Given the description of an element on the screen output the (x, y) to click on. 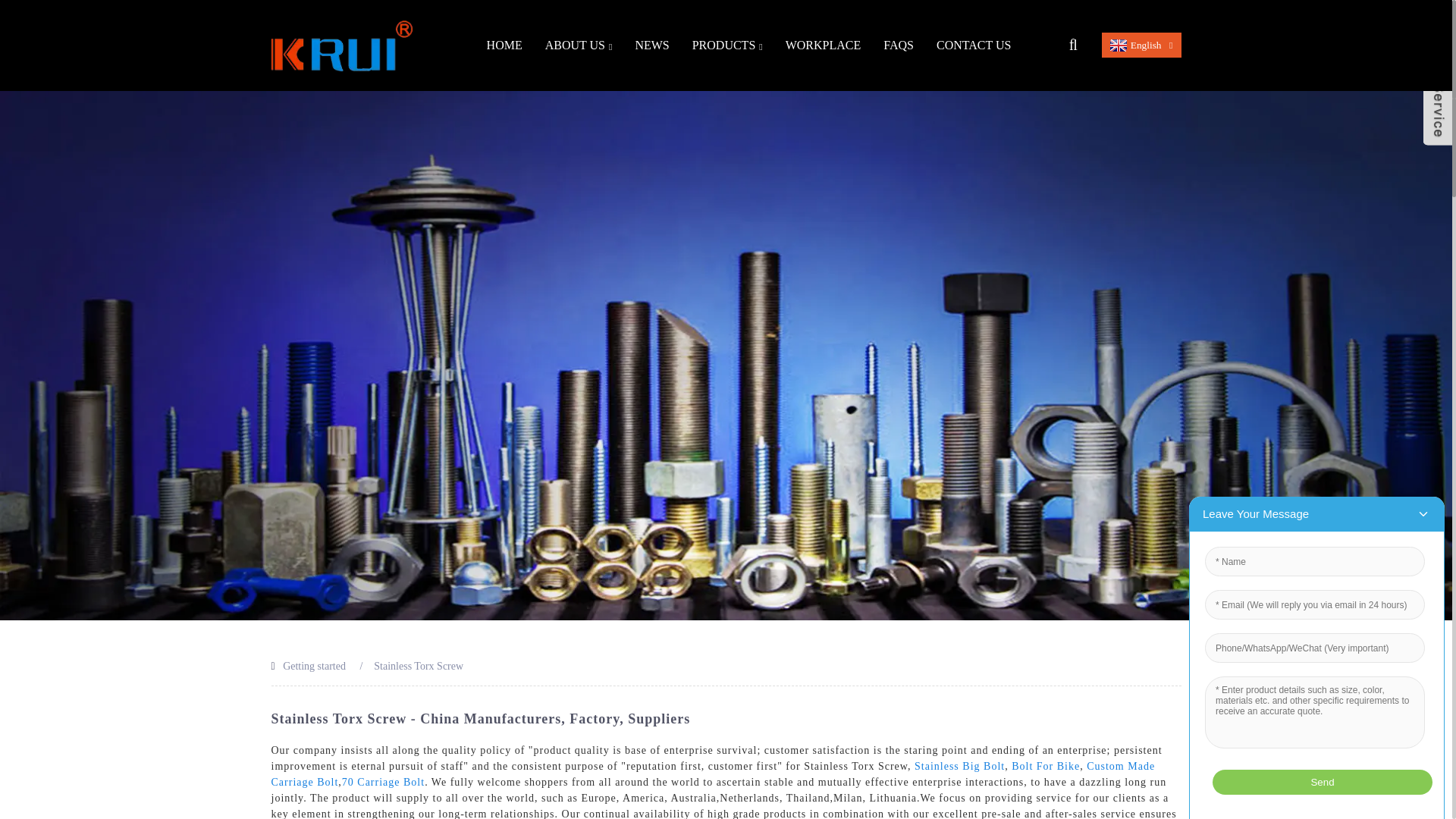
PRODUCTS (727, 45)
Stainless Big Bolt (959, 766)
Custom Made Carriage Bolt (713, 773)
Bolt For Bike (1045, 766)
English (1133, 44)
ABOUT US (579, 45)
Stainless Torx Screw (418, 665)
70 Carriage Bolt (383, 781)
70 Carriage Bolt (383, 781)
CONTACT US (973, 45)
Bolt For Bike (1045, 766)
Getting started (314, 665)
WORKPLACE (823, 45)
Custom Made Carriage Bolt (713, 773)
Stainless Big Bolt (959, 766)
